Given the description of an element on the screen output the (x, y) to click on. 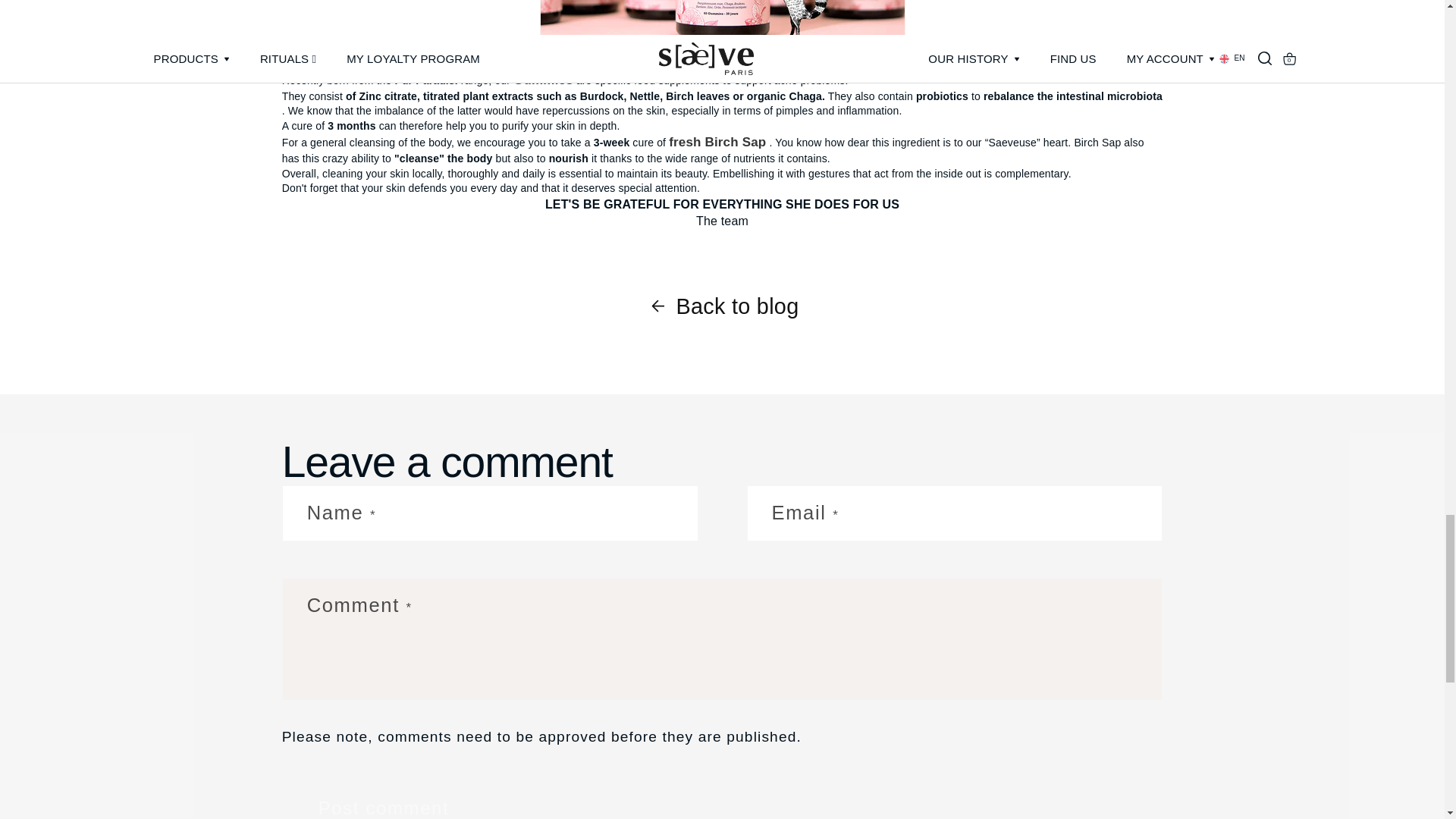
Post comment (384, 799)
Organic Birch Sap Cure (716, 142)
Anti-Blemish Food Supplements, Pur Paradisi (543, 79)
